Given the description of an element on the screen output the (x, y) to click on. 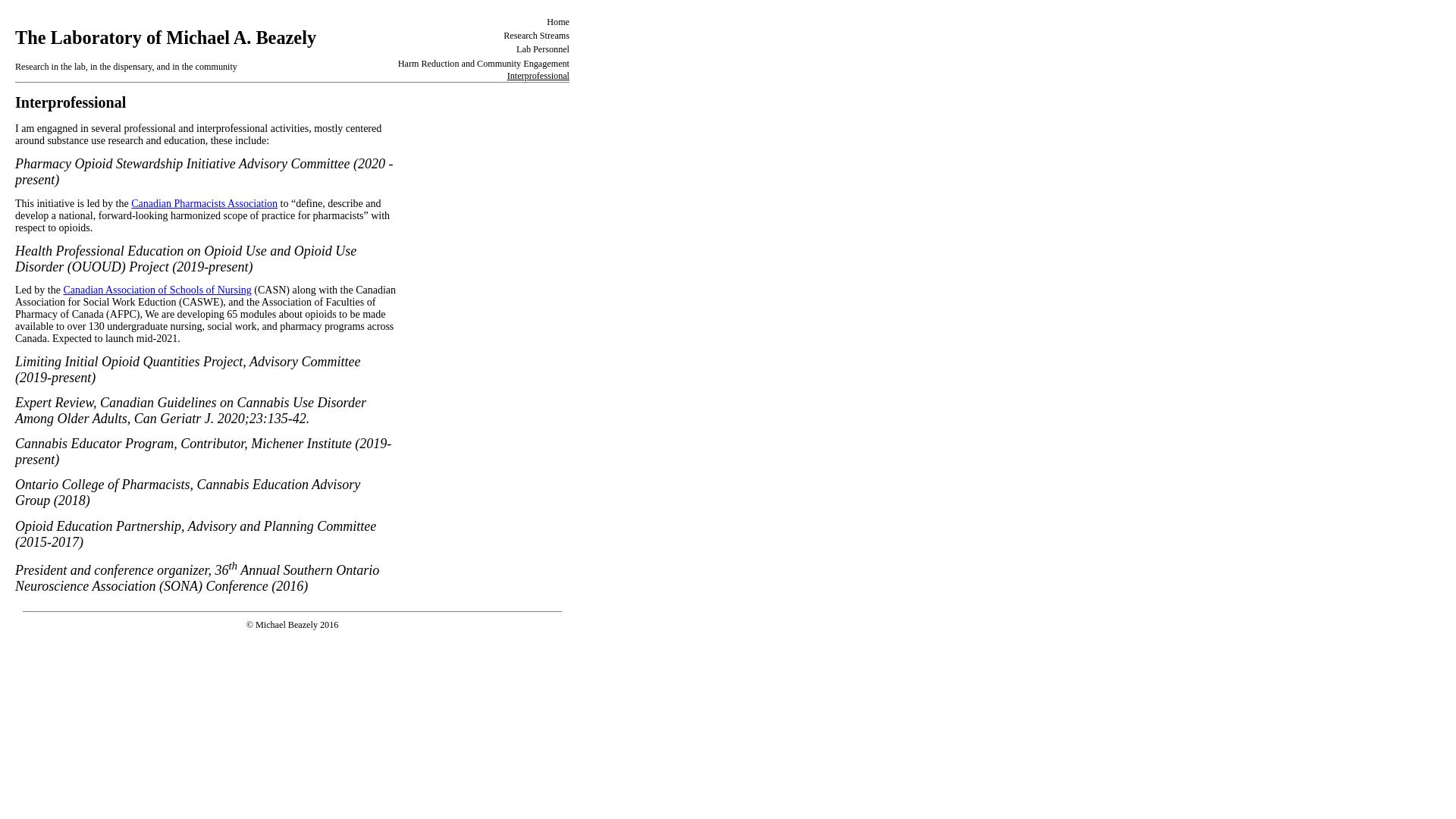
Canadian Pharmacists Association Element type: text (204, 202)
Lab Personnel Element type: text (542, 48)
The Laboratory of Michael A. Beazely Element type: text (165, 37)
Home Element type: text (557, 21)
Research Streams Element type: text (536, 35)
Harm Reduction and Community Engagement Element type: text (483, 63)
Canadian Association of Schools of Nursing Element type: text (156, 289)
